Given the description of an element on the screen output the (x, y) to click on. 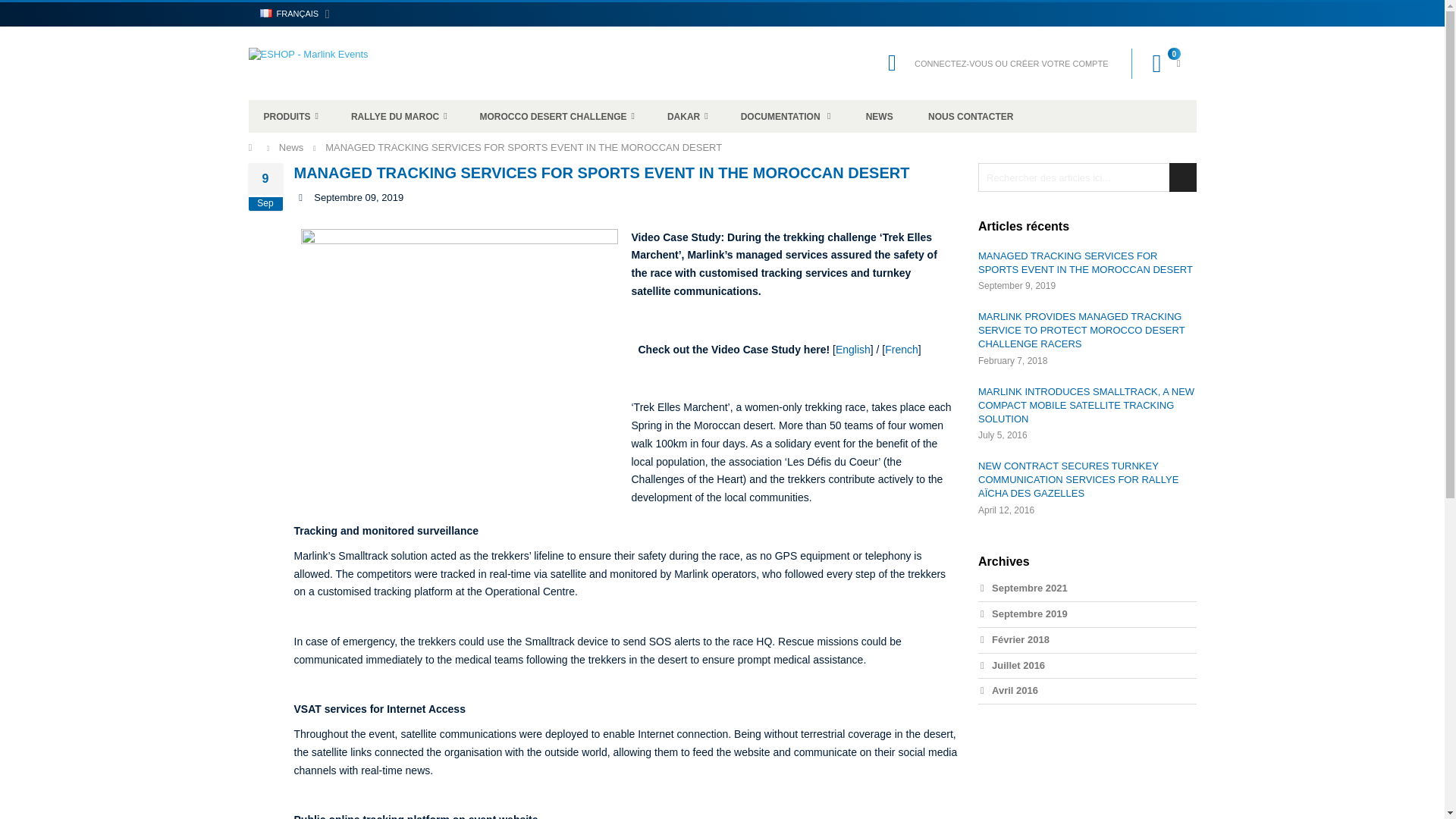
DOCUMENTATION (785, 115)
ESHOP - Marlink Events (312, 62)
MOROCCO DESERT CHALLENGE (556, 115)
NEWS (879, 115)
PRODUITS (290, 115)
DAKAR (687, 115)
Rallye du Maroc (399, 115)
Produits (290, 115)
RALLYE DU MAROC (399, 115)
